Given the description of an element on the screen output the (x, y) to click on. 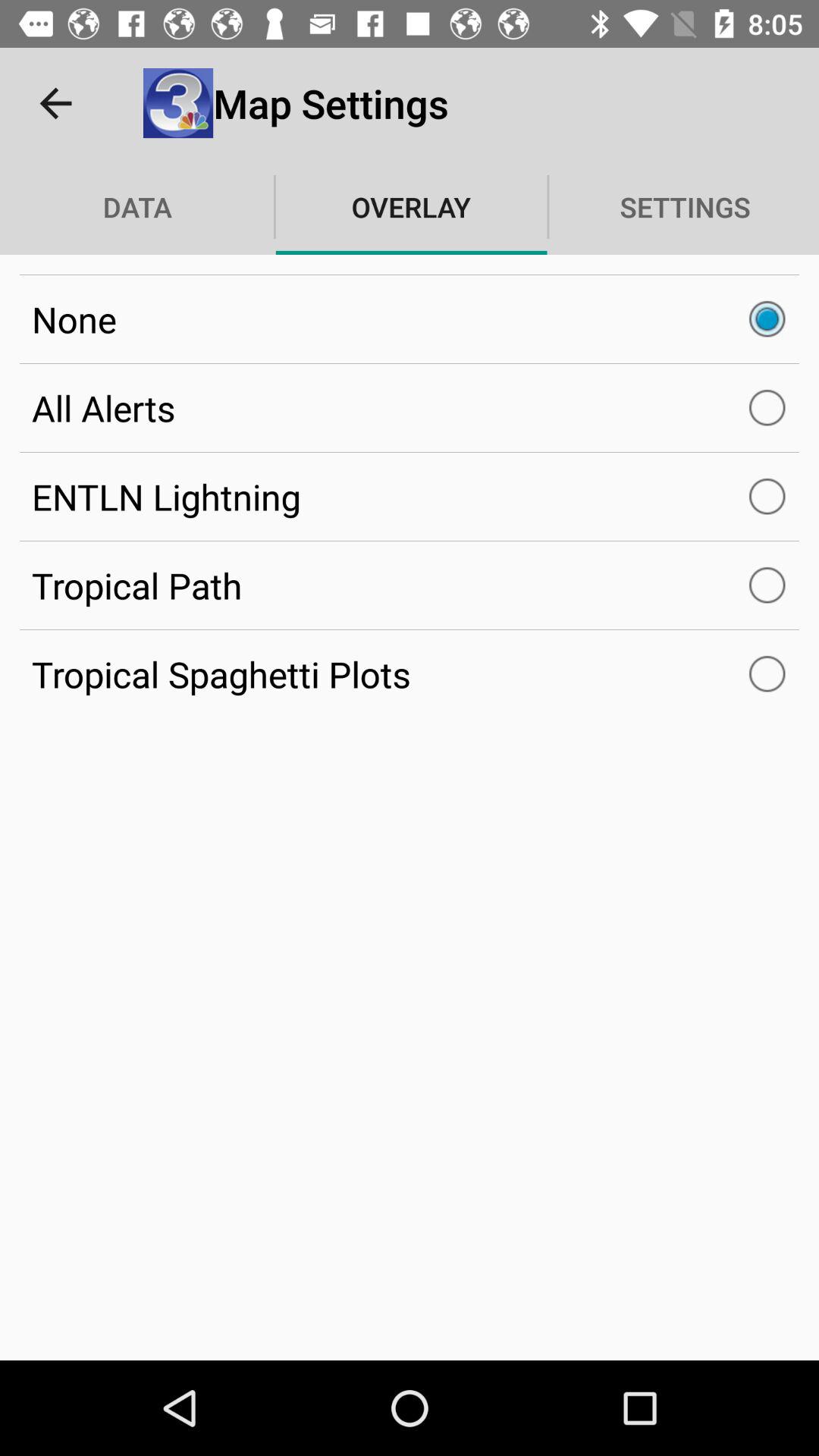
flip to none icon (409, 319)
